Given the description of an element on the screen output the (x, y) to click on. 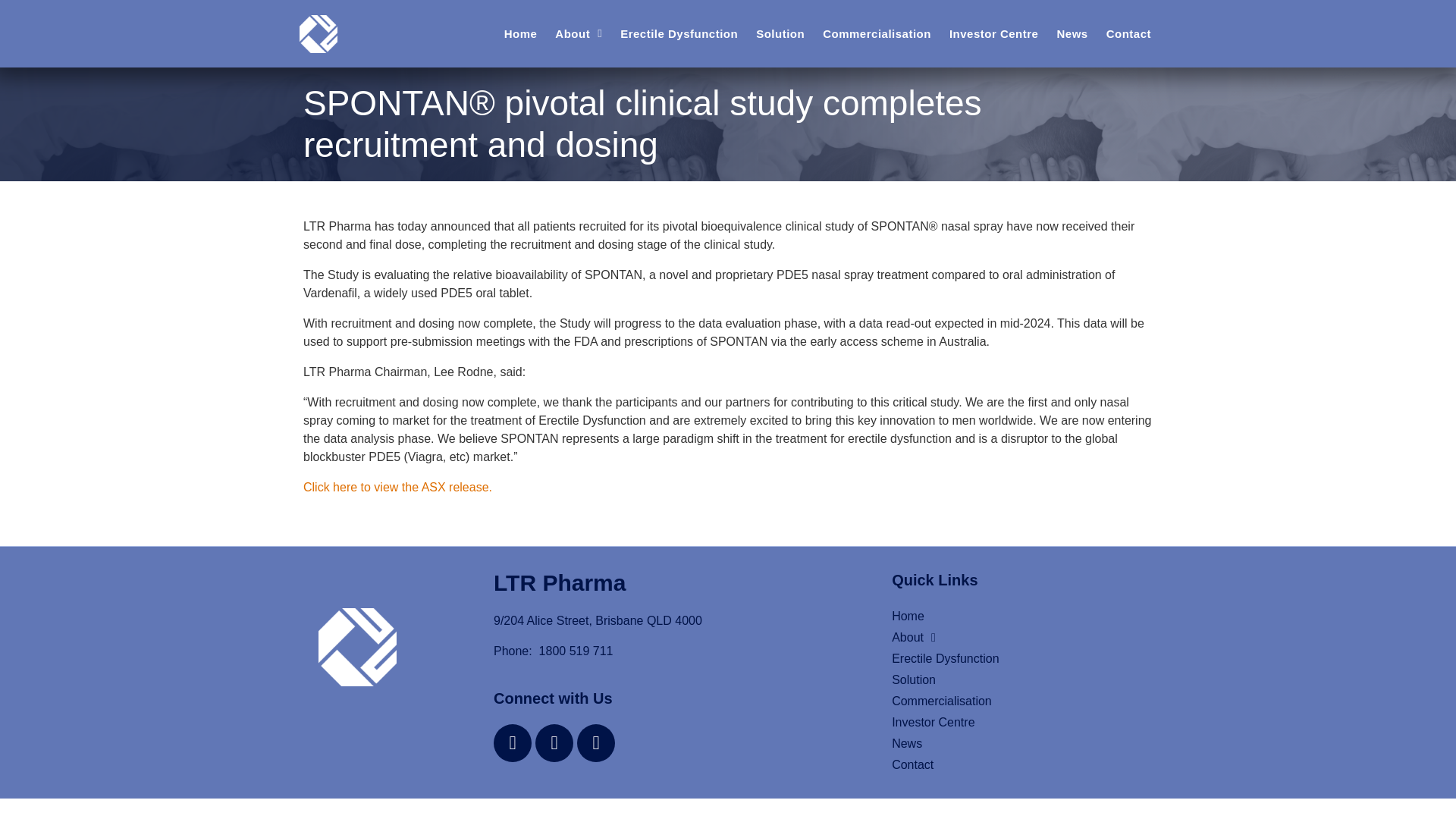
Commercialisation (876, 34)
Contact (1128, 34)
Solution (1012, 680)
About (578, 34)
Erectile Dysfunction (678, 34)
Investor Centre (994, 34)
Erectile Dysfunction (1012, 658)
Contact (1012, 764)
Home (1012, 616)
Commercialisation (1012, 701)
Click here to view the ASX release. (397, 486)
Home (521, 34)
LTR Pharma (559, 582)
Investor Centre (1012, 722)
Solution (779, 34)
